Given the description of an element on the screen output the (x, y) to click on. 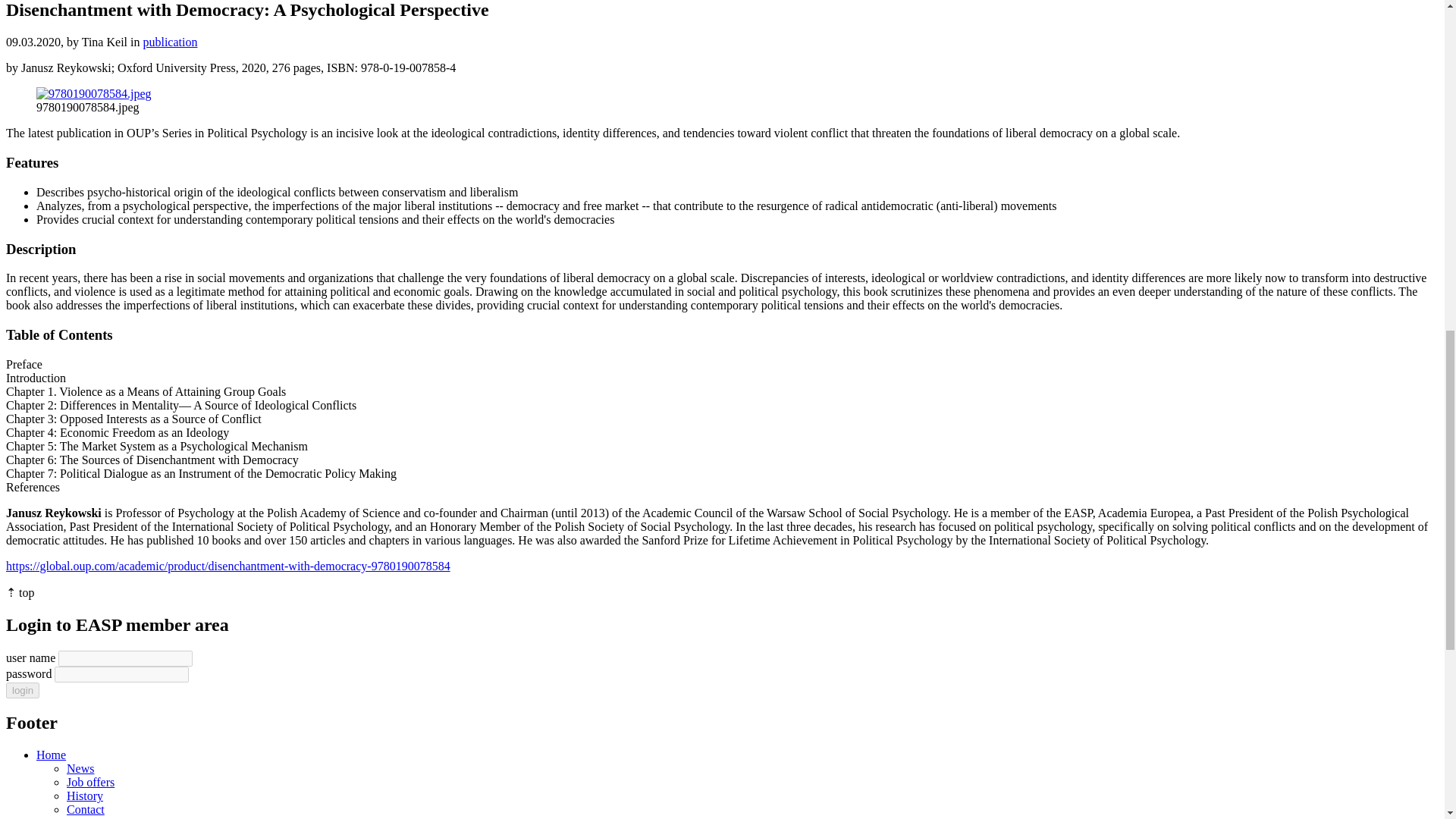
to the top (19, 592)
9780190078584.jpeg (93, 92)
login (22, 690)
